Given the description of an element on the screen output the (x, y) to click on. 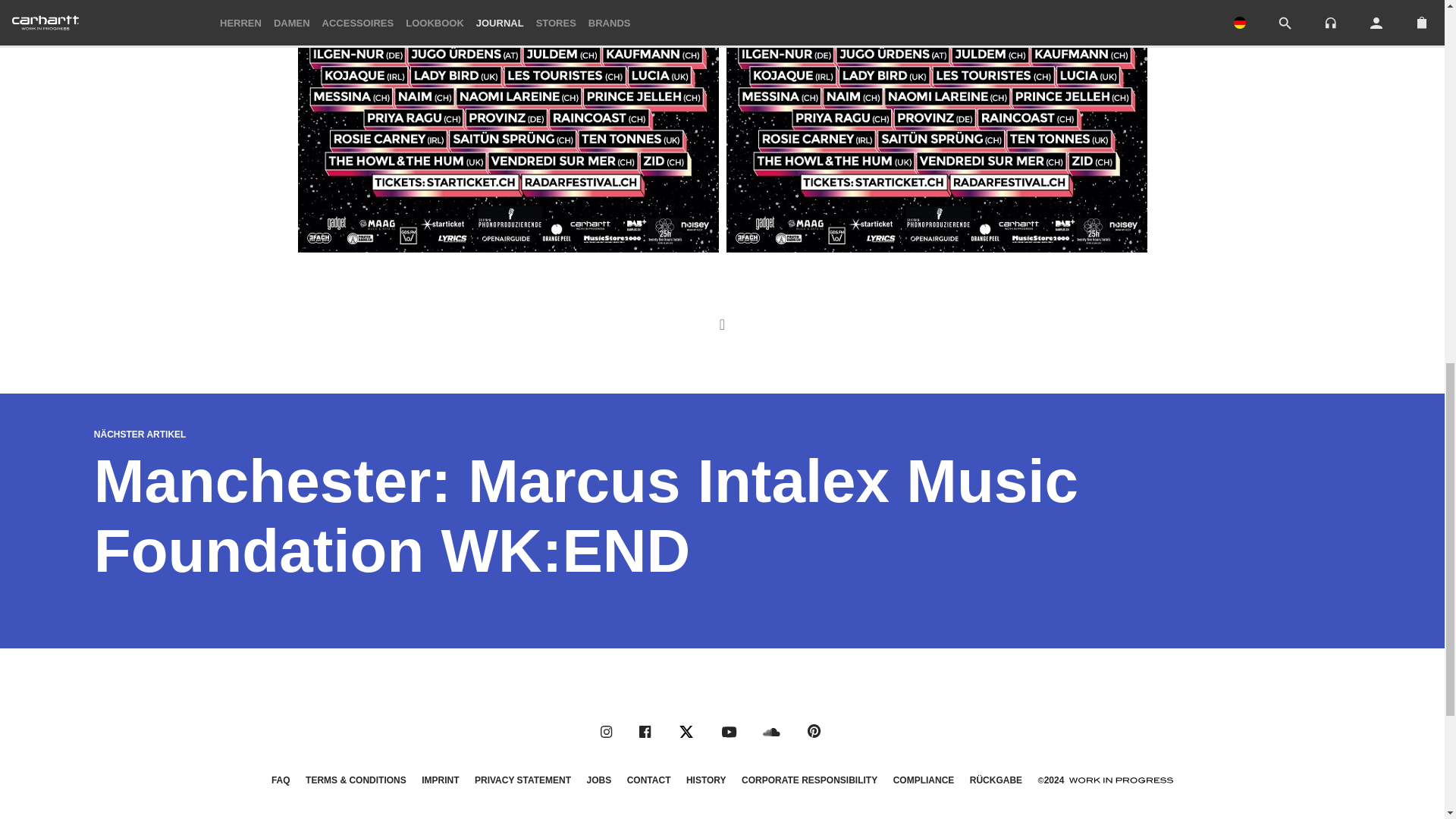
Social-Twitter (686, 731)
Social-Soundcloud Created with Sketch. (771, 732)
Social-Pinterest Created with Sketch. (814, 730)
Social-facebook Created with Sketch. (644, 731)
